Given the description of an element on the screen output the (x, y) to click on. 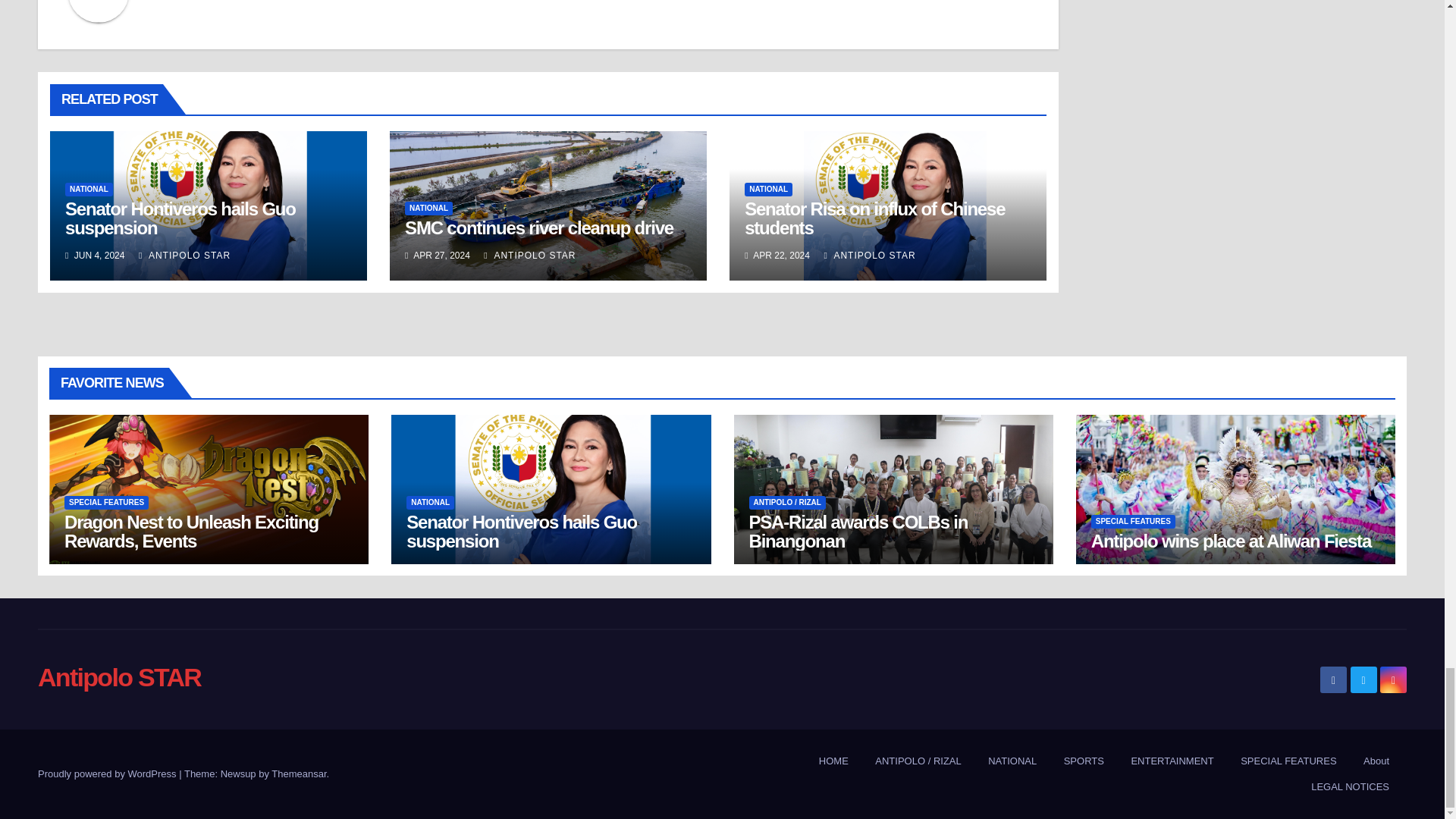
ANTIPOLO STAR (184, 255)
Permalink to: Senator Hontiveros hails Guo suspension (521, 531)
Permalink to: PSA-Rizal awards COLBs in Binangonan (858, 531)
NATIONAL (89, 189)
Permalink to: Senator Risa on influx of Chinese students (874, 218)
Permalink to: Senator Hontiveros hails Guo suspension (180, 218)
NATIONAL (428, 208)
SMC continues river cleanup drive (538, 227)
ANTIPOLO STAR (529, 255)
